Given the description of an element on the screen output the (x, y) to click on. 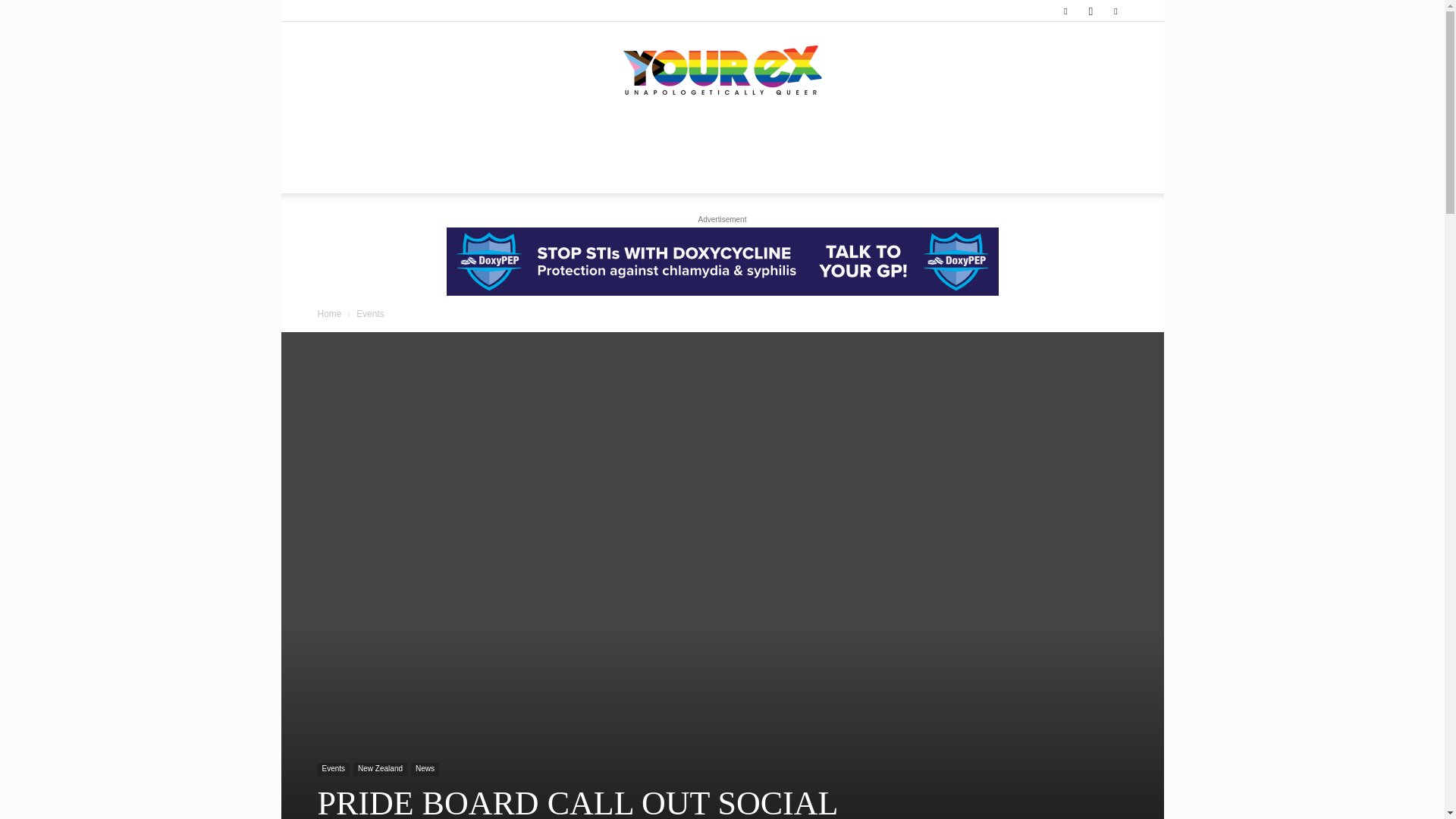
Facebook (1065, 10)
Instagram (1090, 10)
YOUR EX (721, 71)
express Magazine (722, 71)
Twitter (1114, 10)
LIFESTYLE (541, 138)
PEOPLE (603, 138)
OPINION (477, 138)
EVENTS (754, 138)
NEWS (424, 138)
HOME (377, 138)
